Given the description of an element on the screen output the (x, y) to click on. 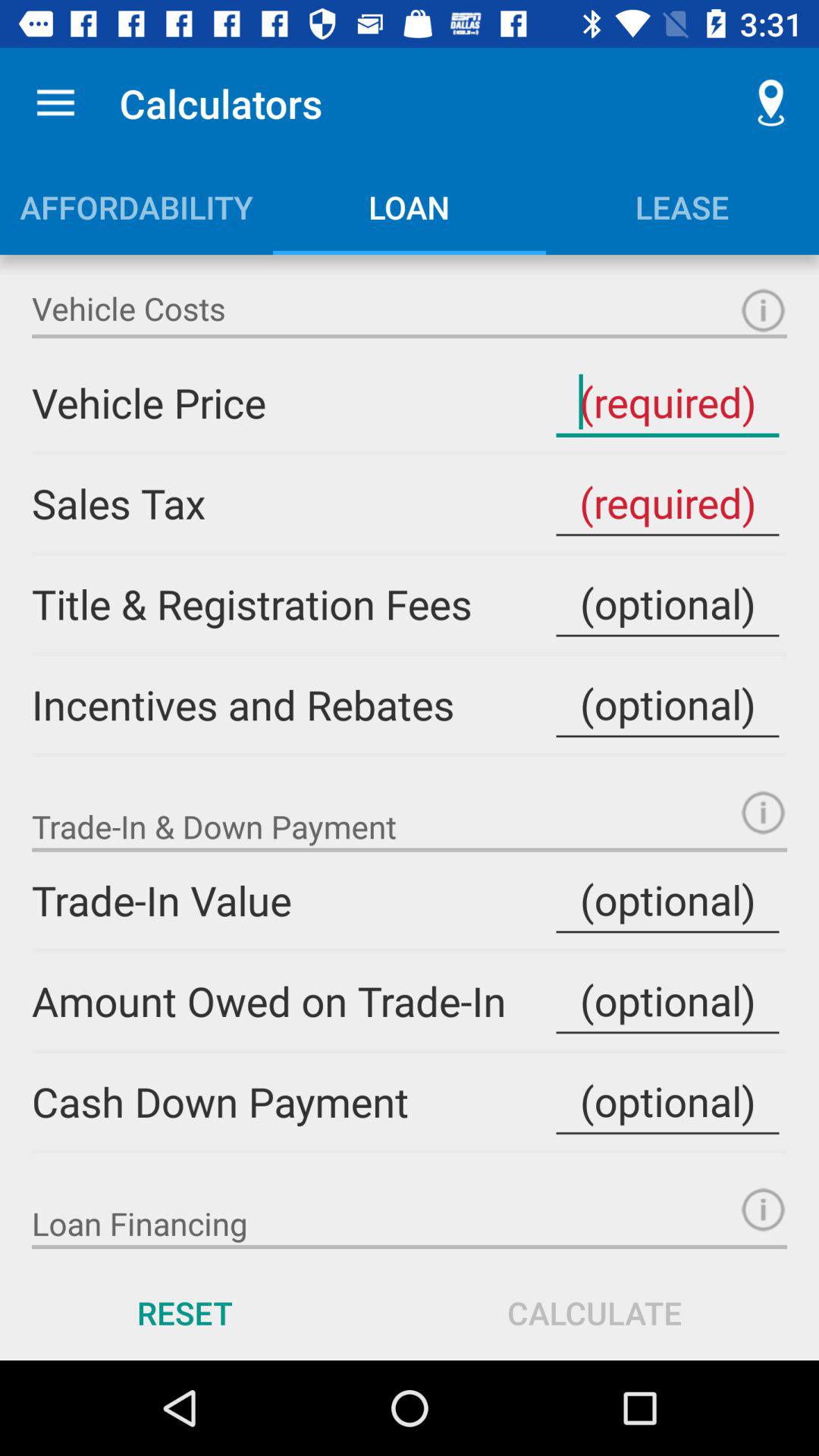
enter vehicle price (667, 402)
